Given the description of an element on the screen output the (x, y) to click on. 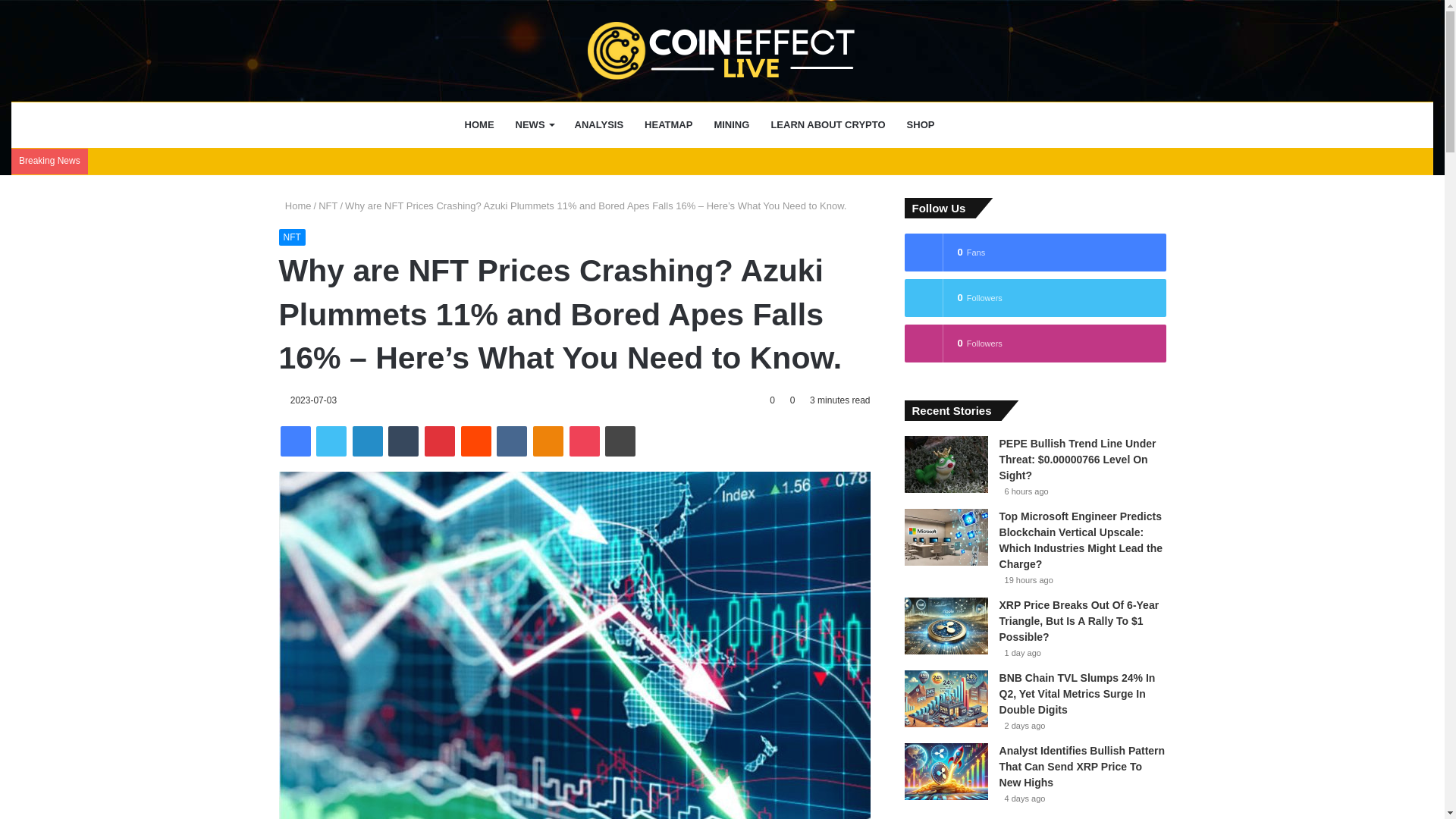
NFT (327, 205)
SHOP (920, 125)
Pocket (583, 440)
Coin Effect (722, 49)
HEATMAP (668, 125)
Facebook (296, 440)
Tumblr (403, 440)
Twitter (330, 440)
Pocket (583, 440)
Reddit (476, 440)
Odnoklassniki (547, 440)
Facebook (296, 440)
Pinterest (439, 440)
HOME (479, 125)
NEWS (534, 125)
